Given the description of an element on the screen output the (x, y) to click on. 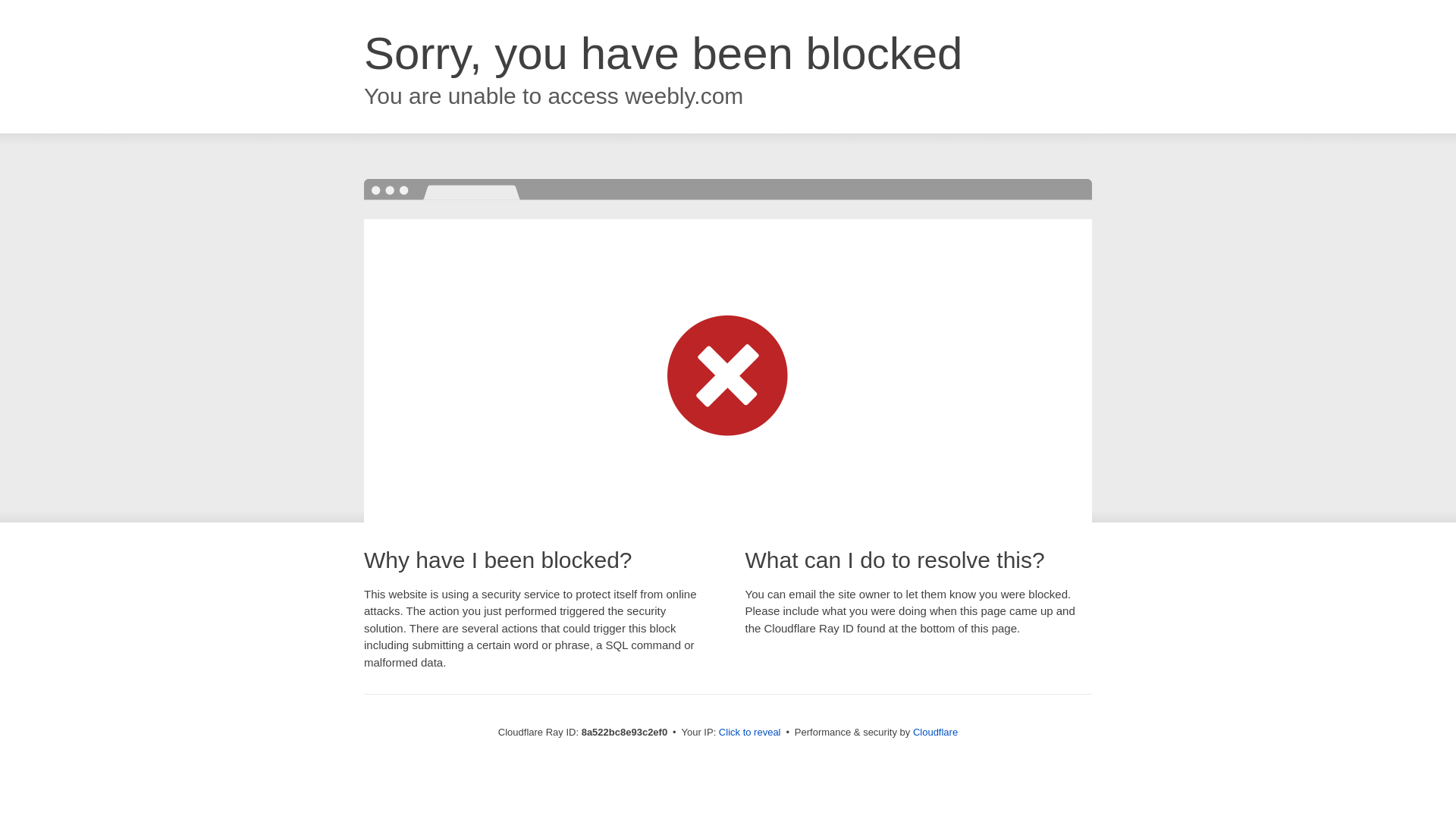
Click to reveal (749, 732)
Cloudflare (935, 731)
